Given the description of an element on the screen output the (x, y) to click on. 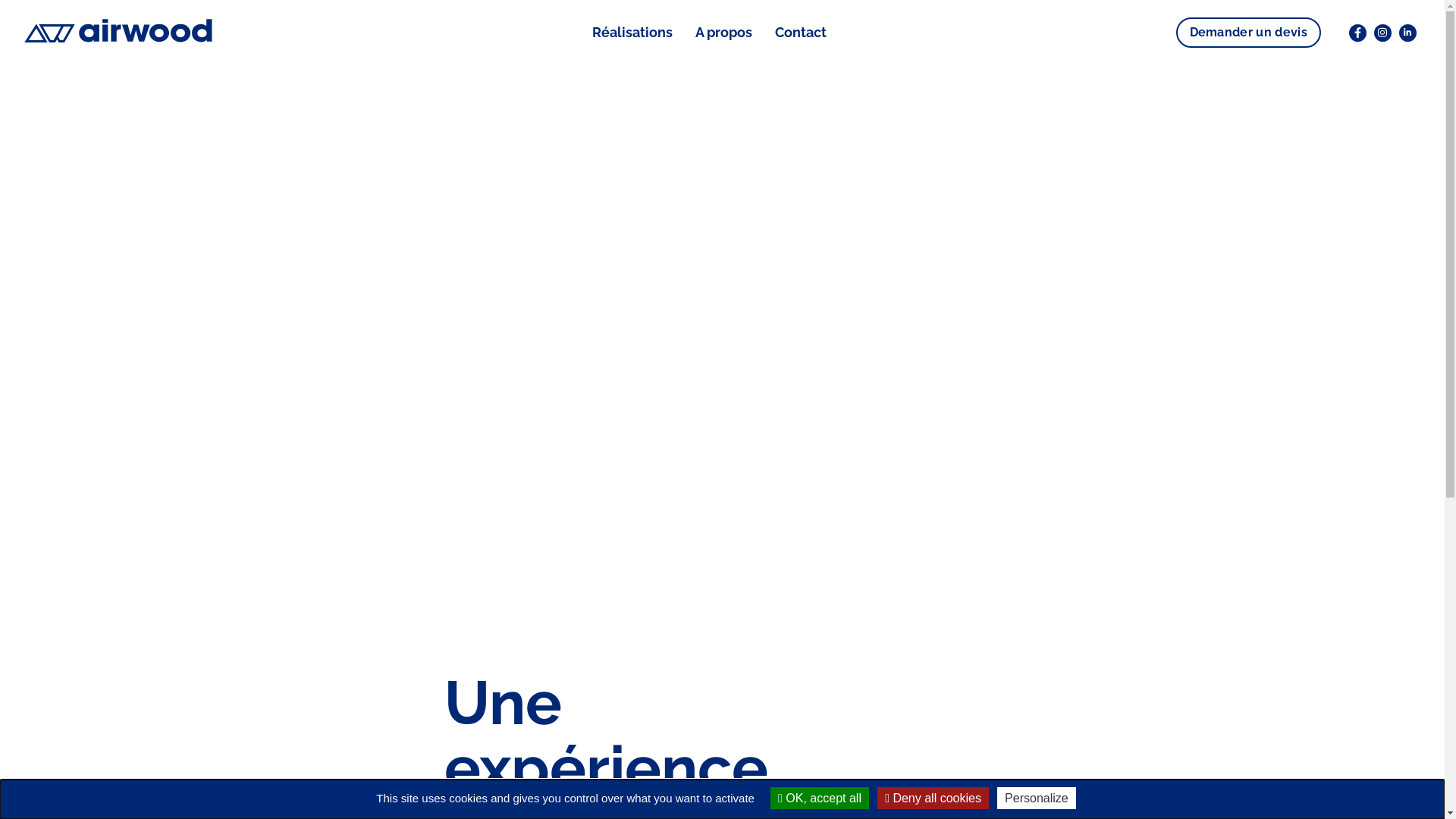
Personalize Element type: text (1036, 798)
Deny all cookies Element type: text (932, 798)
A propos Element type: text (723, 38)
Demander un devis Element type: text (1248, 32)
Contact Element type: text (800, 38)
OK, accept all Element type: text (819, 798)
